Given the description of an element on the screen output the (x, y) to click on. 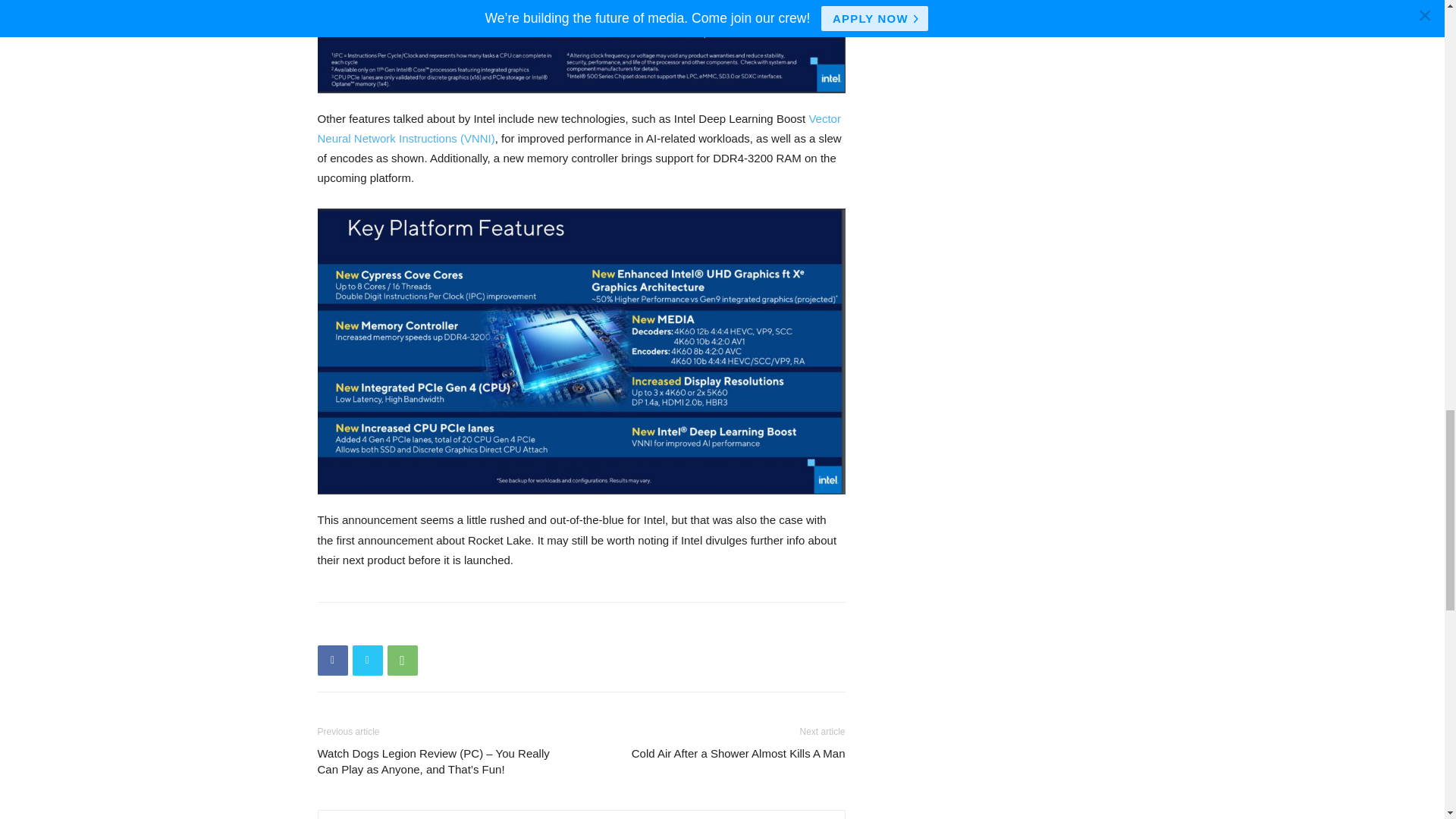
WhatsApp (401, 660)
Cold Air After a Shower Almost Kills A Man (738, 753)
Facebook (332, 660)
Twitter (366, 660)
bottomFacebookLike (430, 626)
